Given the description of an element on the screen output the (x, y) to click on. 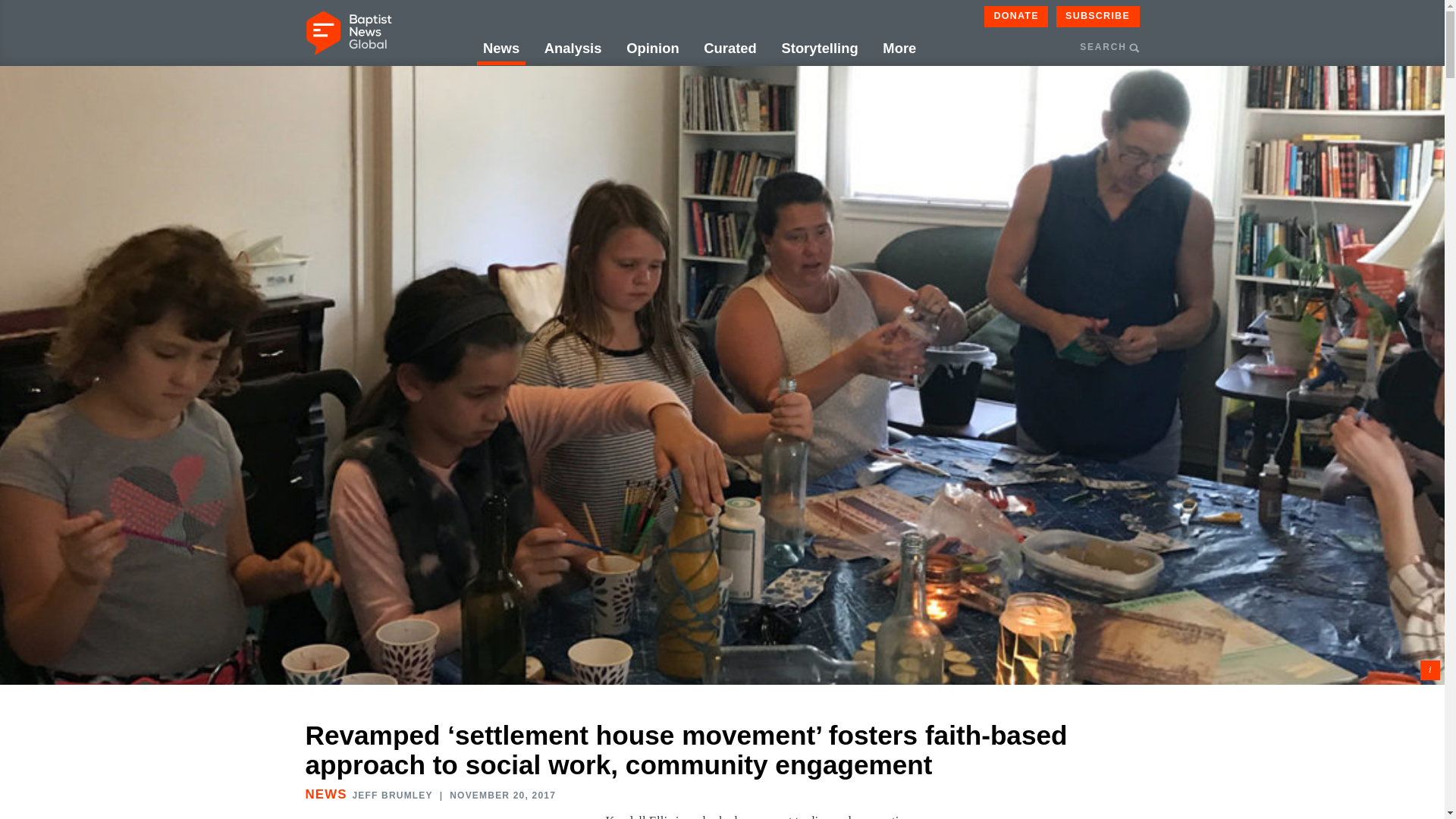
Posts by Jeff Brumley (392, 795)
Curated (729, 49)
Opinion (652, 49)
Storytelling (819, 49)
Search (1193, 119)
More (898, 49)
SUBSCRIBE (1098, 16)
News (501, 49)
DONATE (1016, 16)
NEWS (325, 794)
